Given the description of an element on the screen output the (x, y) to click on. 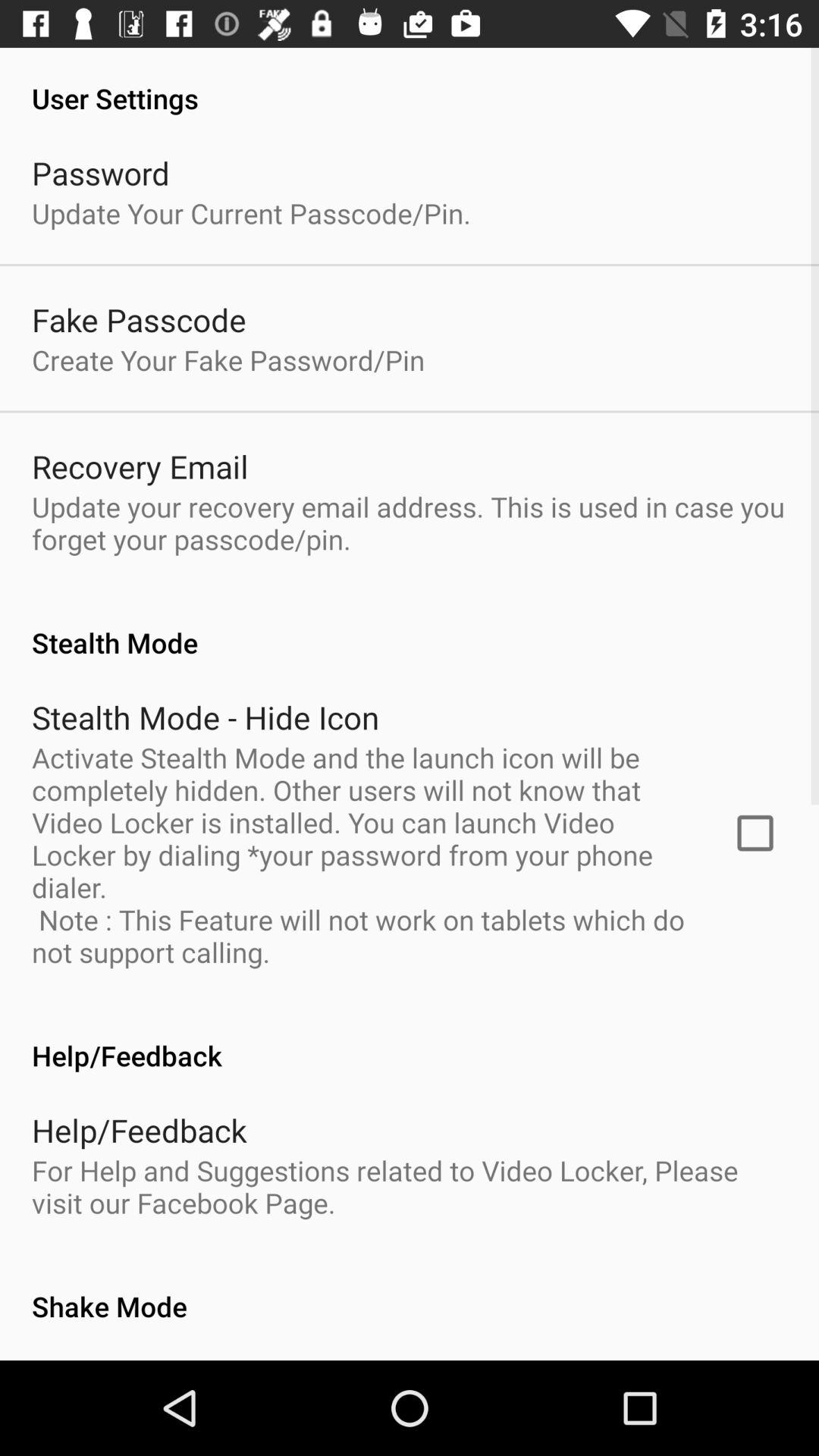
flip until the shake phone to app (207, 1359)
